Given the description of an element on the screen output the (x, y) to click on. 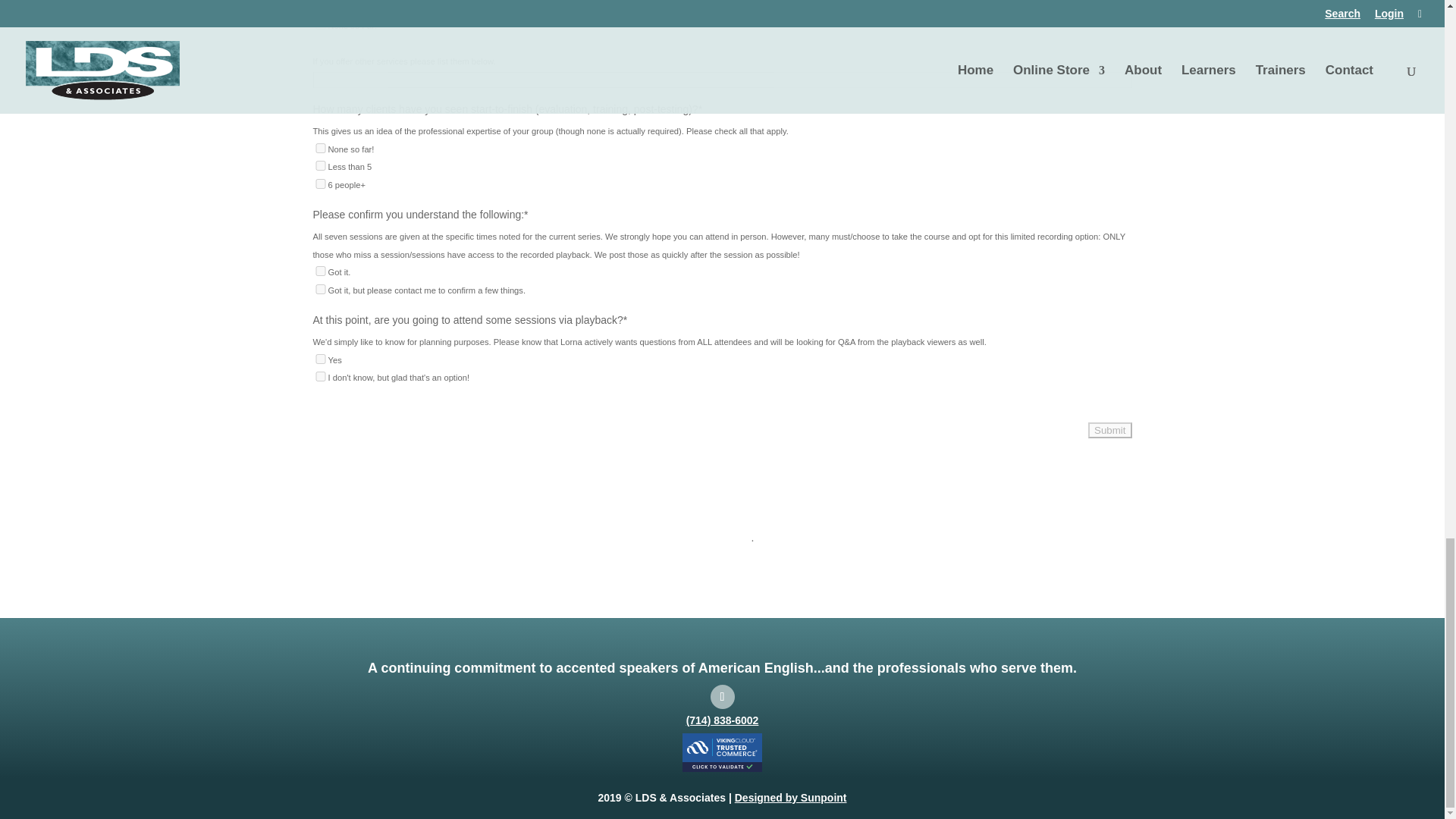
None so Far! (320, 24)
Follow on LinkedIn (721, 696)
Advanced Language Skills Training (320, 6)
None so far! (320, 148)
Less than 5 (320, 165)
